Given the description of an element on the screen output the (x, y) to click on. 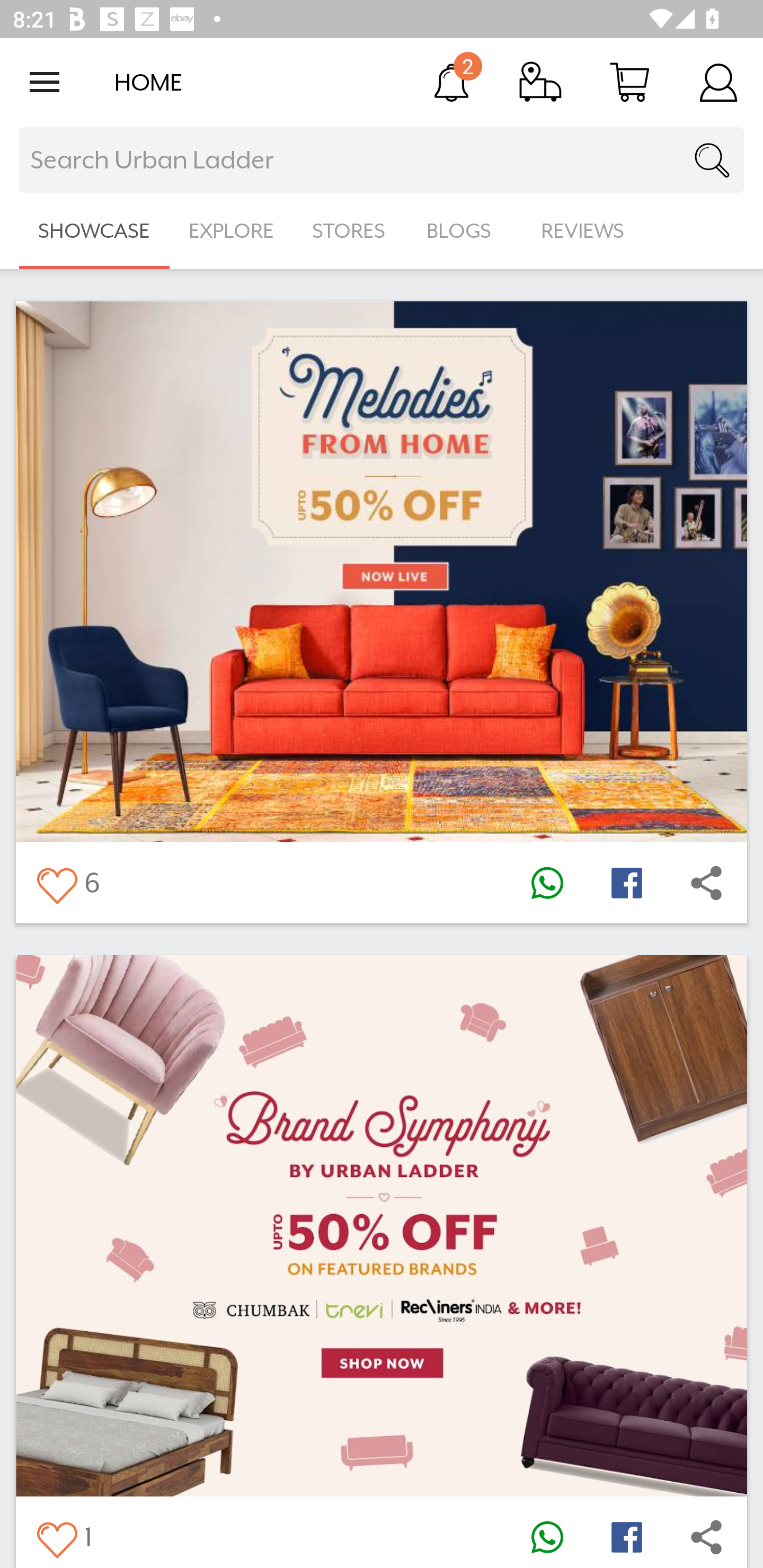
Open navigation drawer (44, 82)
Notification (450, 81)
Track Order (540, 81)
Cart (629, 81)
Account Details (718, 81)
Search Urban Ladder  (381, 159)
SHOWCASE (94, 230)
EXPLORE (230, 230)
STORES (349, 230)
BLOGS (464, 230)
REVIEWS (582, 230)
 (55, 882)
 (547, 882)
 (626, 882)
 (706, 882)
 (55, 1536)
 (547, 1536)
 (626, 1536)
 (706, 1536)
